Given the description of an element on the screen output the (x, y) to click on. 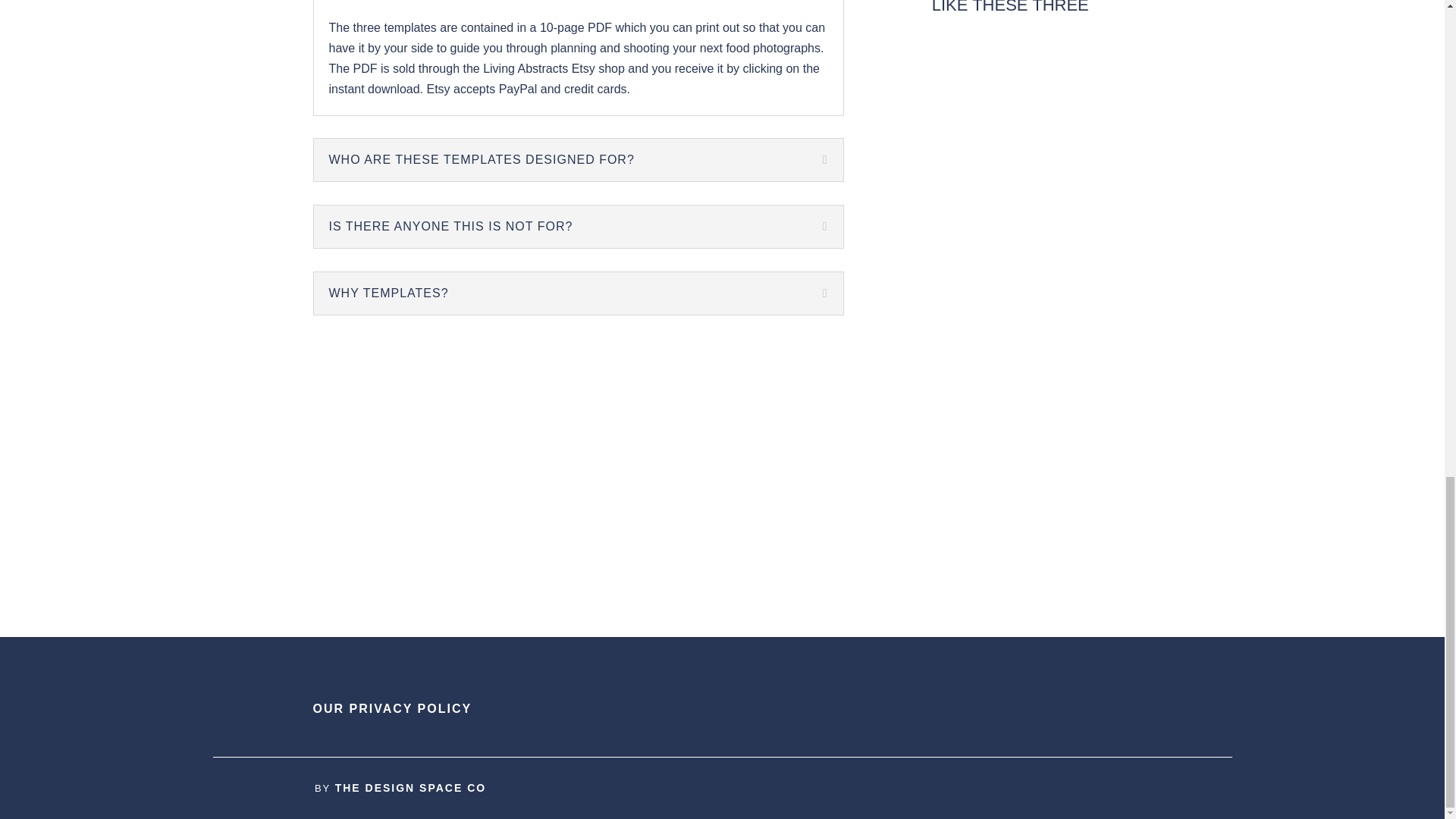
OUR PRIVACY POLICY  (394, 707)
THE DESIGN SPACE CO (410, 787)
